Given the description of an element on the screen output the (x, y) to click on. 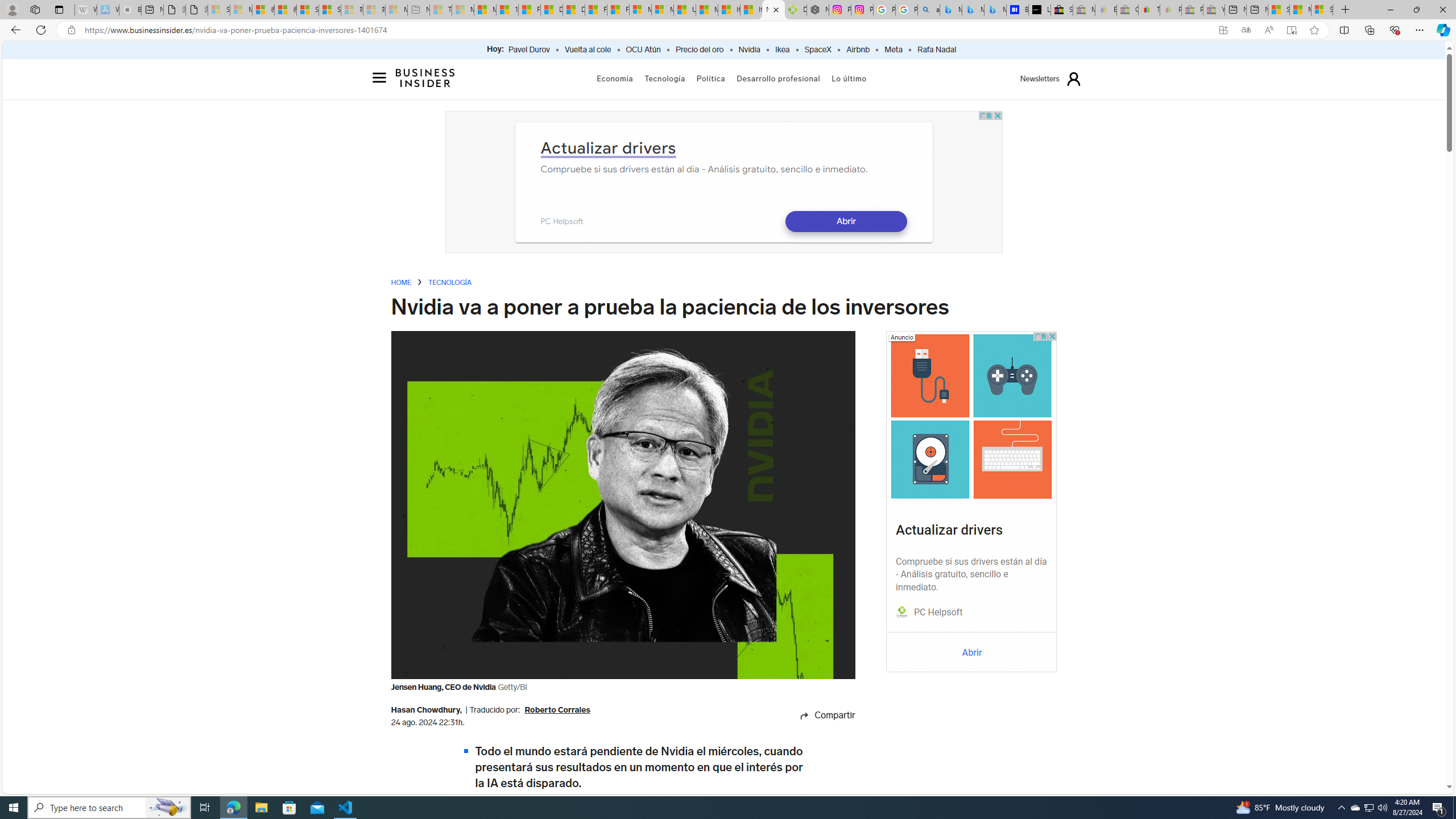
Selling on eBay | Electronics, Fashion, Home & Garden | eBay (1061, 9)
Jensen Huang, CEO de Nvidia (623, 504)
Food and Drink - MSN (529, 9)
HOME (401, 283)
Microsoft Services Agreement - Sleeping (241, 9)
Microsoft Bing Travel - Shangri-La Hotel Bangkok (995, 9)
Wikipedia - Sleeping (85, 9)
